Given the description of an element on the screen output the (x, y) to click on. 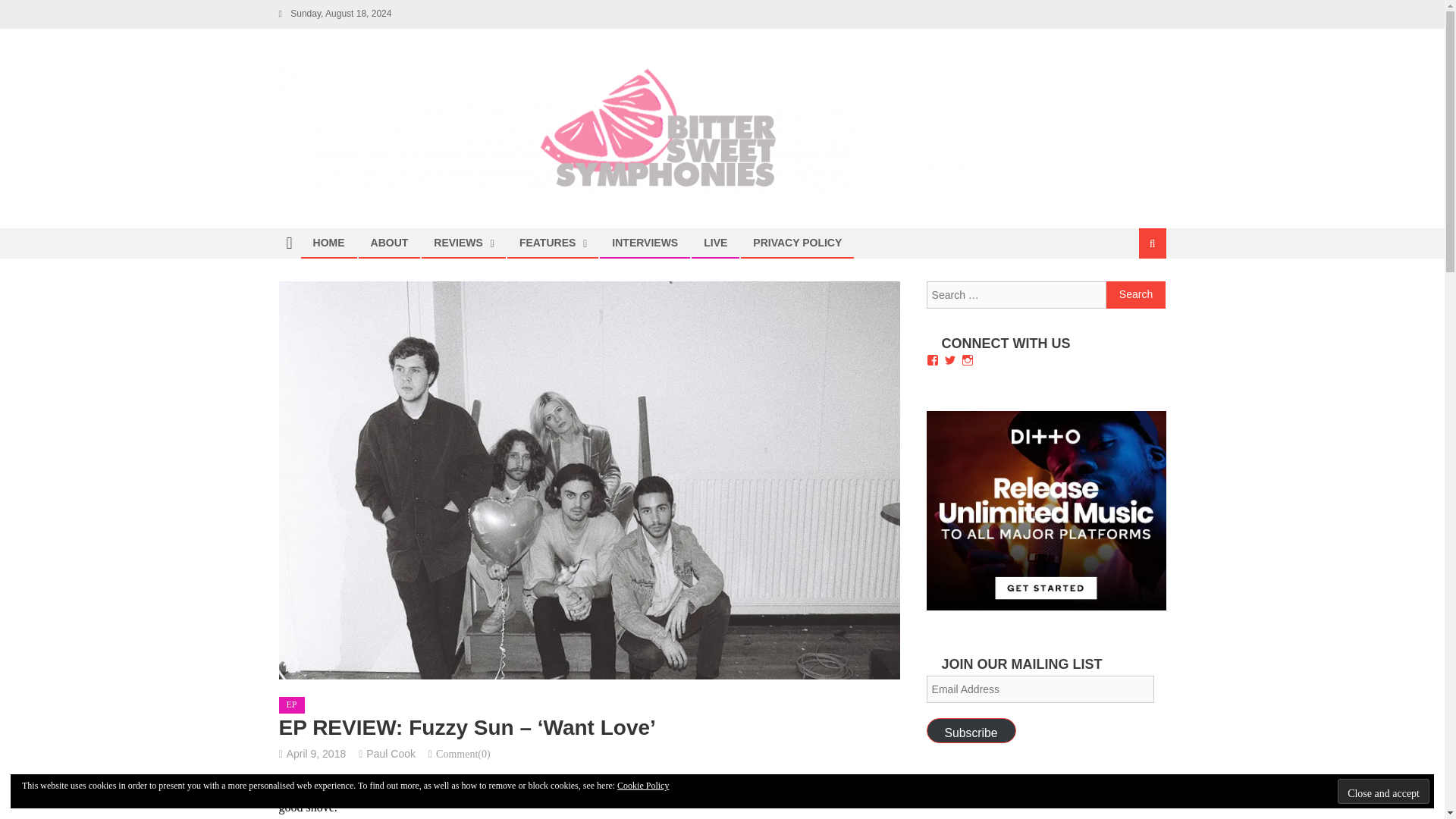
LIVE (715, 242)
ABOUT (389, 242)
April 9, 2018 (316, 753)
REVIEWS (458, 242)
EP (291, 704)
Search (1133, 293)
Paul Cook (390, 753)
INTERVIEWS (643, 242)
Close and accept (1383, 790)
Search (1136, 294)
